Given the description of an element on the screen output the (x, y) to click on. 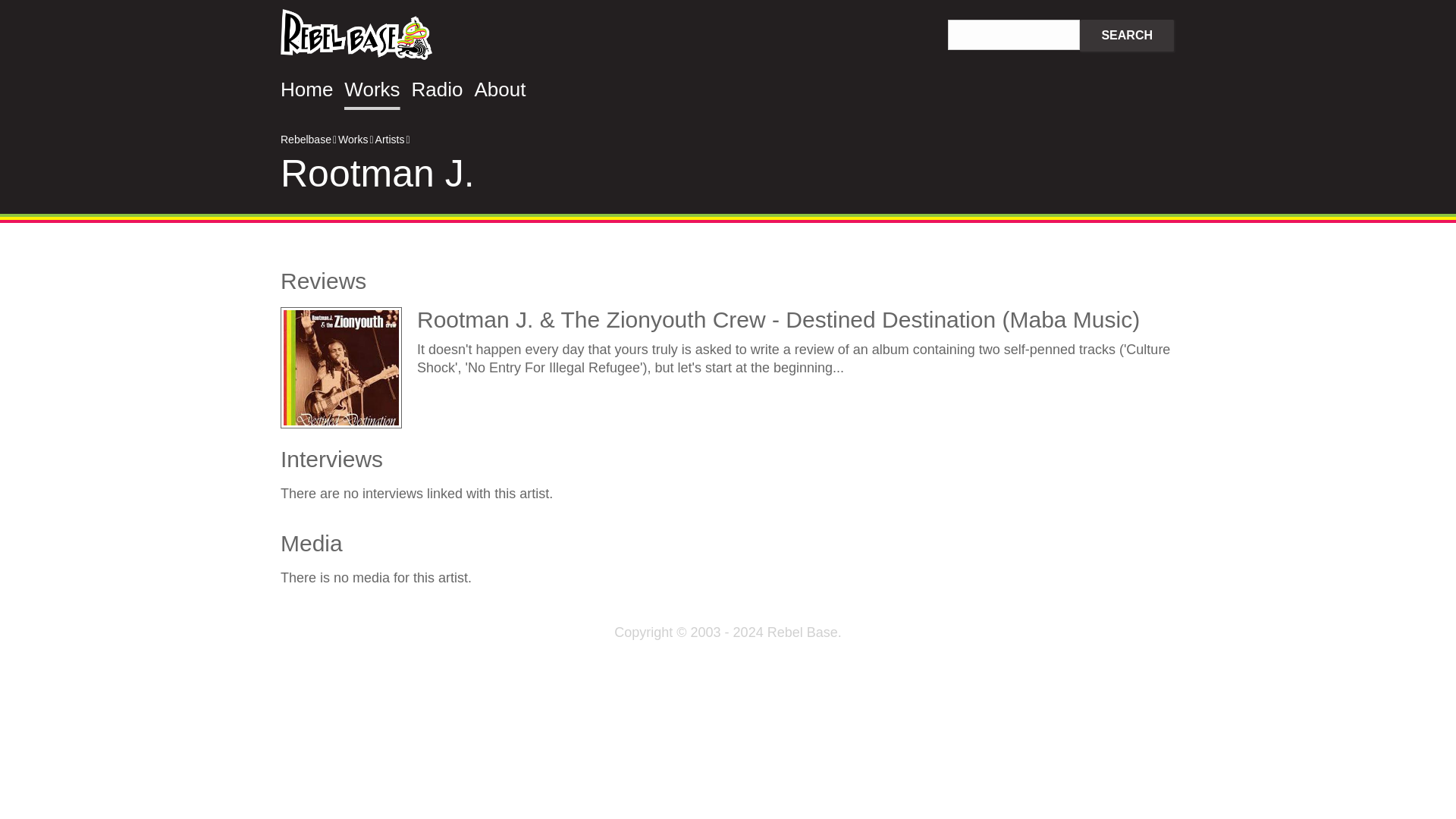
Rebelbase (306, 139)
Works (352, 139)
Home (307, 88)
Artists (389, 139)
SEARCH (1127, 36)
About (499, 88)
Rebelbase (356, 37)
Works (370, 88)
Radio (437, 88)
